Given the description of an element on the screen output the (x, y) to click on. 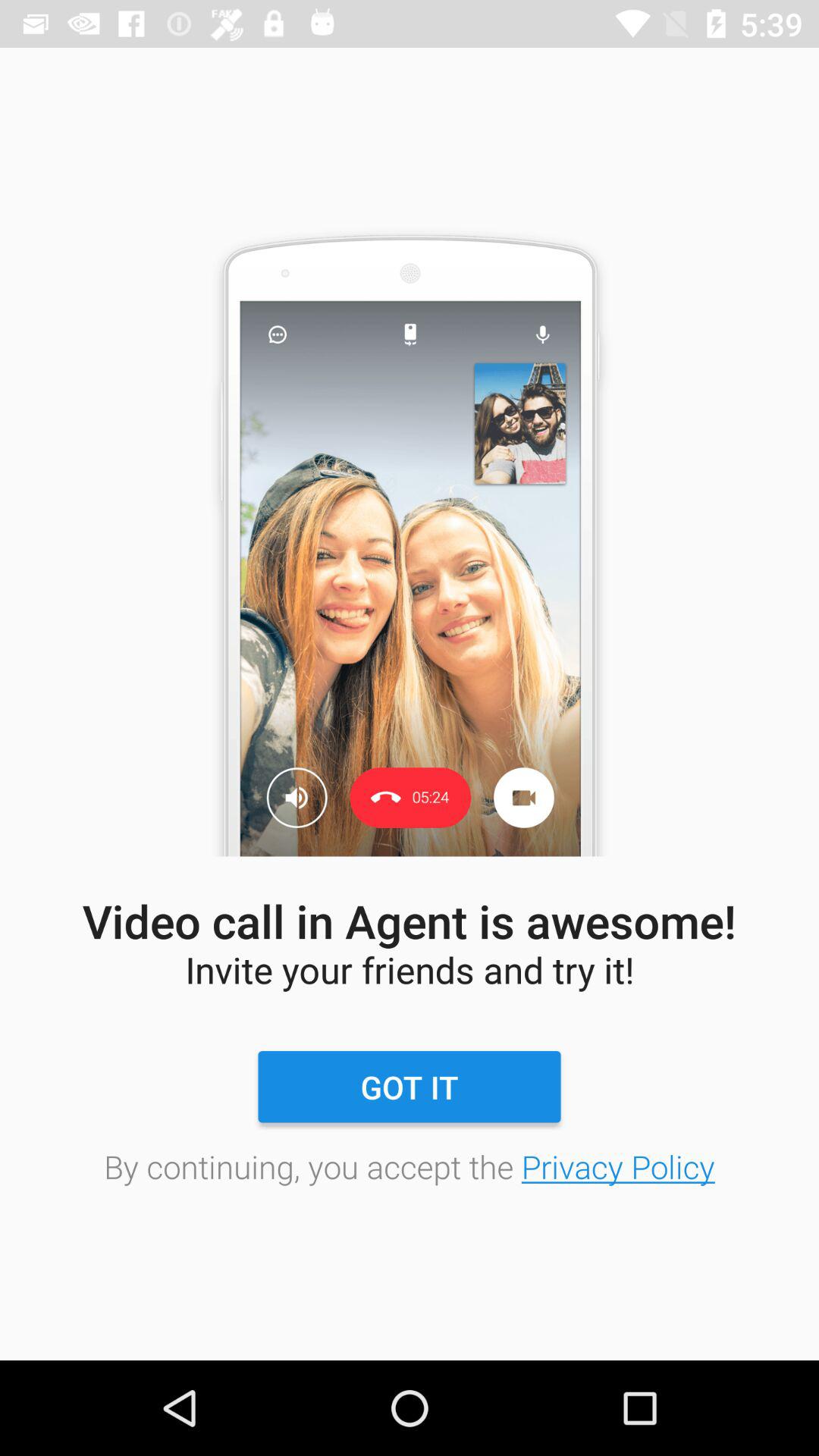
launch the icon below invite your friends (409, 1086)
